Given the description of an element on the screen output the (x, y) to click on. 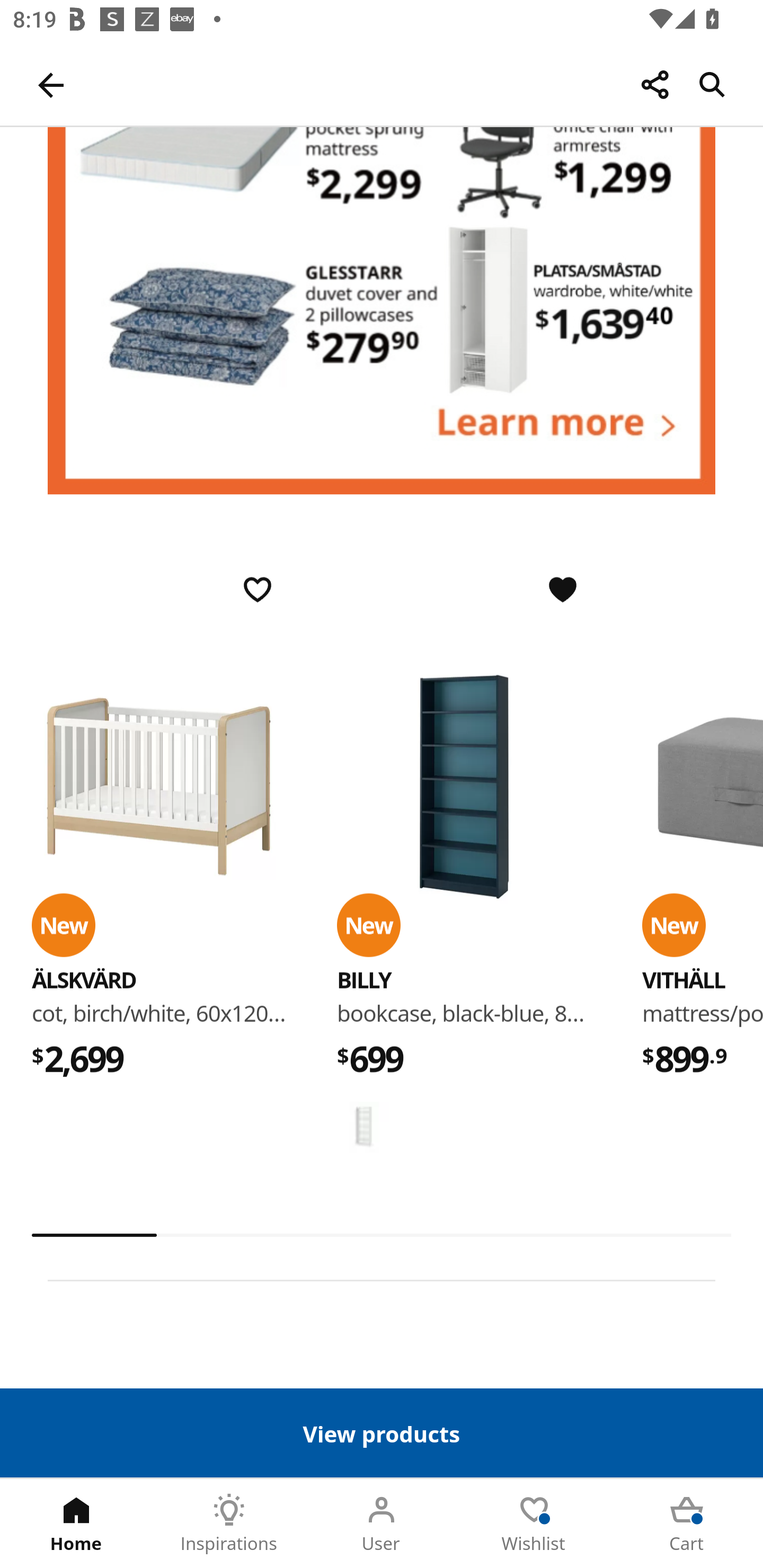
newitems#shop-now (381, 311)
ÄLSKVÄRD (159, 787)
BILLY (464, 787)
ÄLSKVÄRD (84, 979)
BILLY (363, 979)
VITHÄLL (683, 979)
BILLY (363, 1127)
0.0 (381, 1235)
View products (381, 1432)
Home
Tab 1 of 5 (76, 1522)
Inspirations
Tab 2 of 5 (228, 1522)
User
Tab 3 of 5 (381, 1522)
Wishlist
Tab 4 of 5 (533, 1522)
Cart
Tab 5 of 5 (686, 1522)
